Given the description of an element on the screen output the (x, y) to click on. 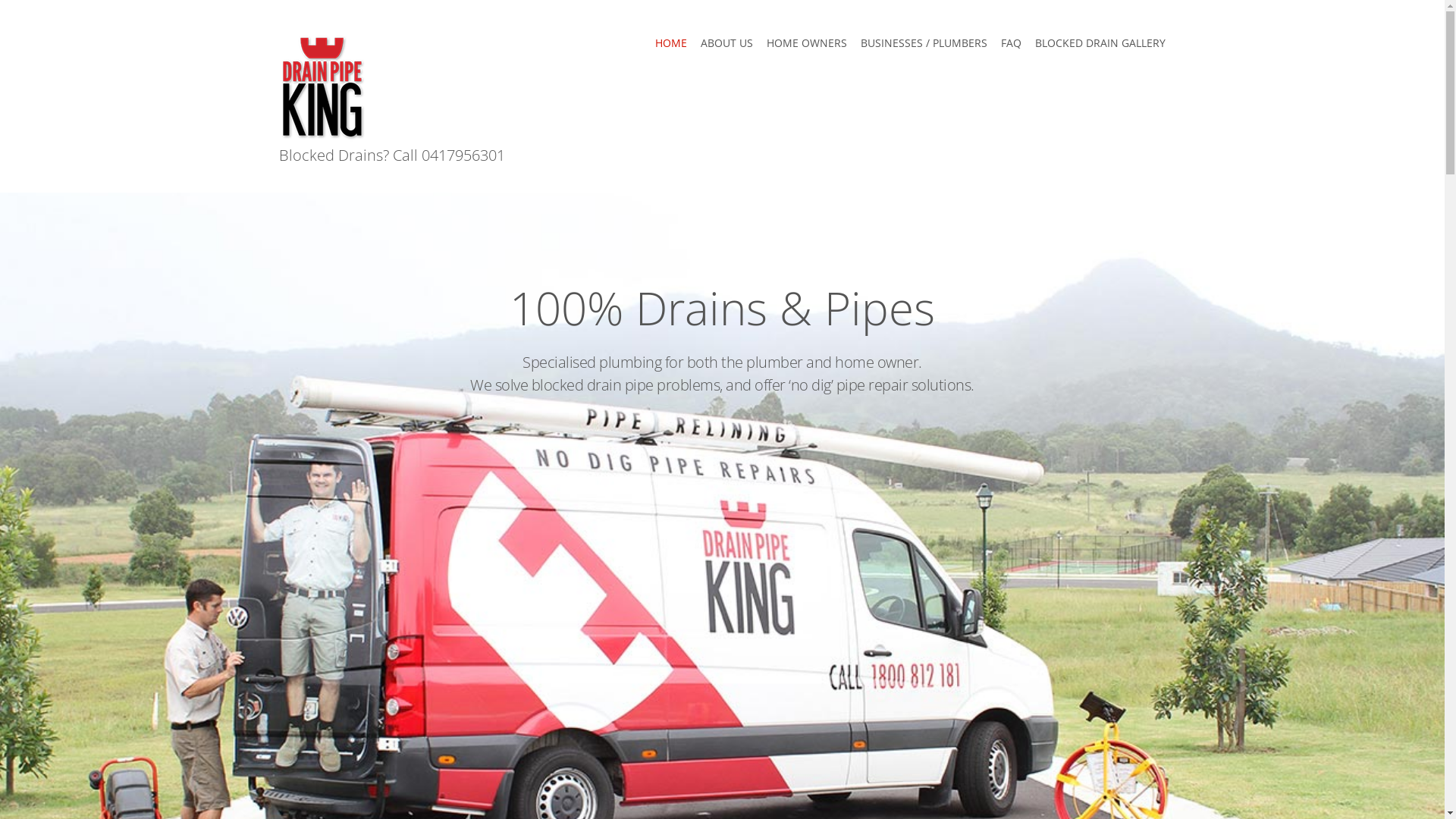
ABOUT US Element type: text (726, 42)
HOME OWNERS Element type: text (806, 42)
BLOCKED DRAIN GALLERY Element type: text (1100, 42)
FAQ Element type: text (1011, 42)
BUSINESSES / PLUMBERS Element type: text (923, 42)
HOME Element type: text (671, 42)
